Given the description of an element on the screen output the (x, y) to click on. 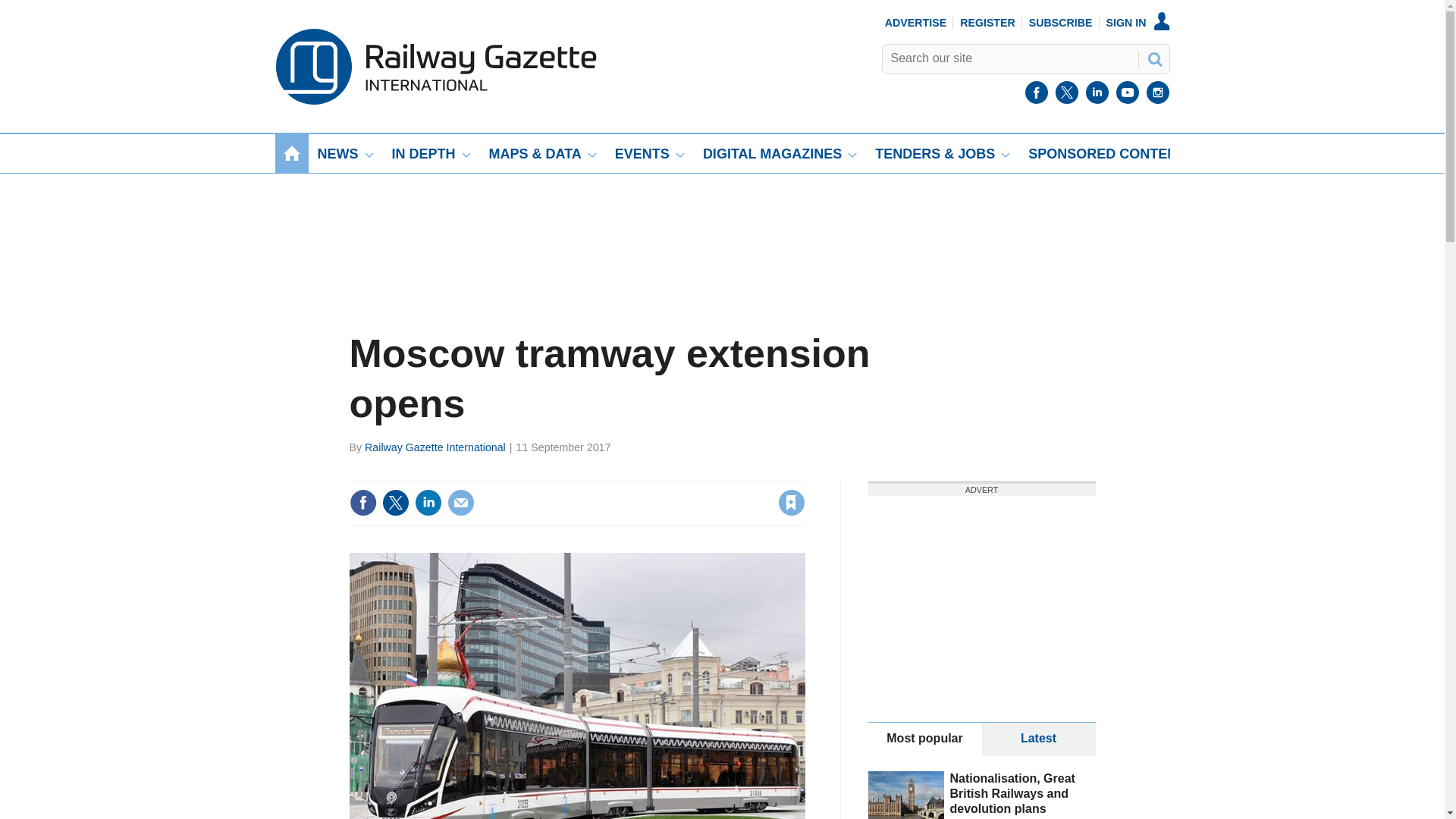
REGISTER (986, 22)
3rd party ad content (980, 590)
Railway Gazette (435, 101)
SUBSCRIBE (1061, 22)
ADVERTISE (915, 22)
Share this on Facebook (362, 501)
SEARCH (1153, 58)
Share this on Linked in (427, 501)
Share this on Twitter (395, 501)
3rd party ad content (721, 225)
